Given the description of an element on the screen output the (x, y) to click on. 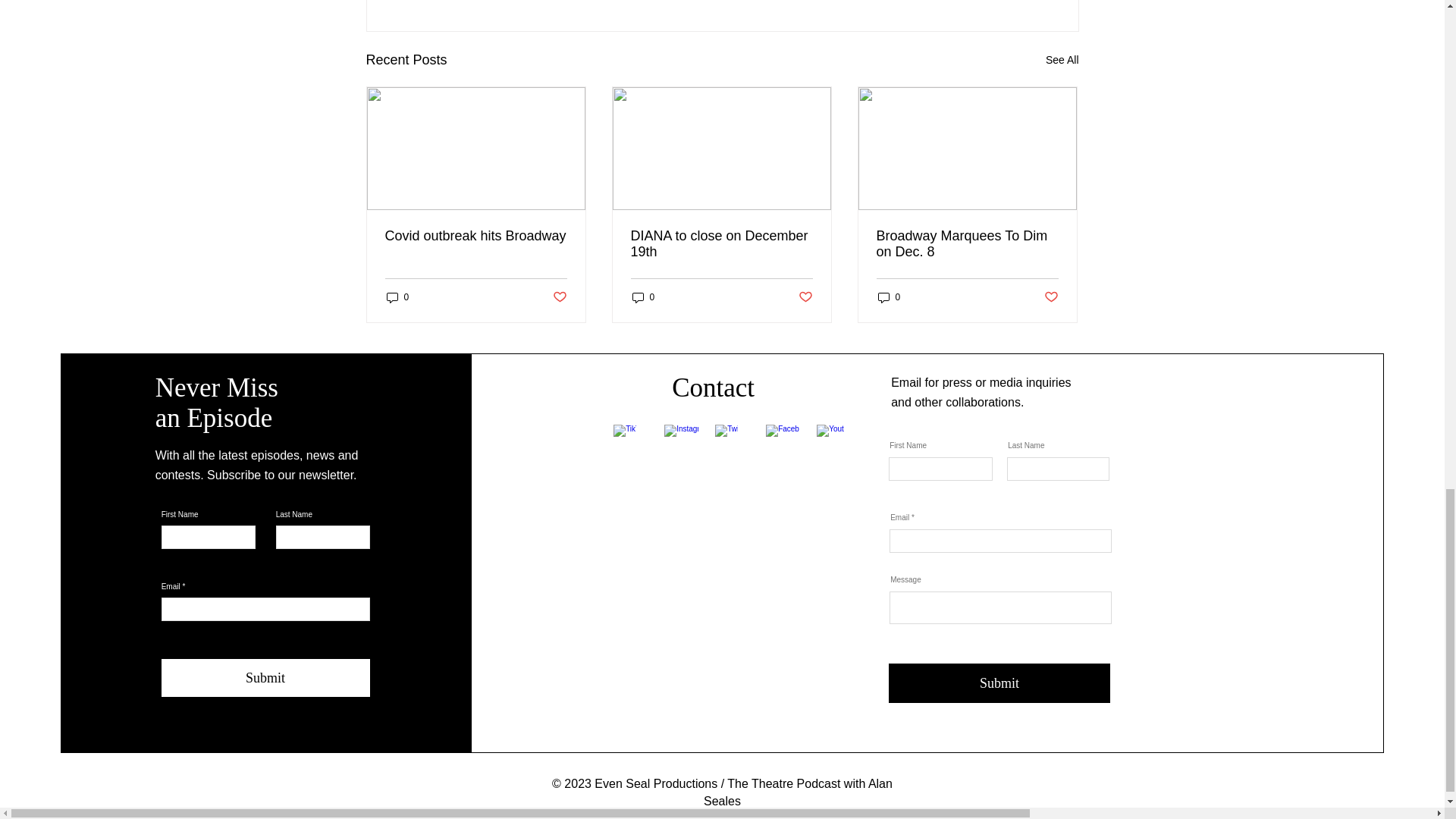
Submit (265, 677)
Covid outbreak hits Broadway (476, 236)
0 (397, 297)
0 (889, 297)
Submit (998, 682)
Broadway Marquees To Dim on Dec. 8 (967, 244)
DIANA to close on December 19th (721, 244)
Post not marked as liked (558, 297)
See All (1061, 60)
0 (643, 297)
Post not marked as liked (804, 297)
Post not marked as liked (1050, 297)
